Given the description of an element on the screen output the (x, y) to click on. 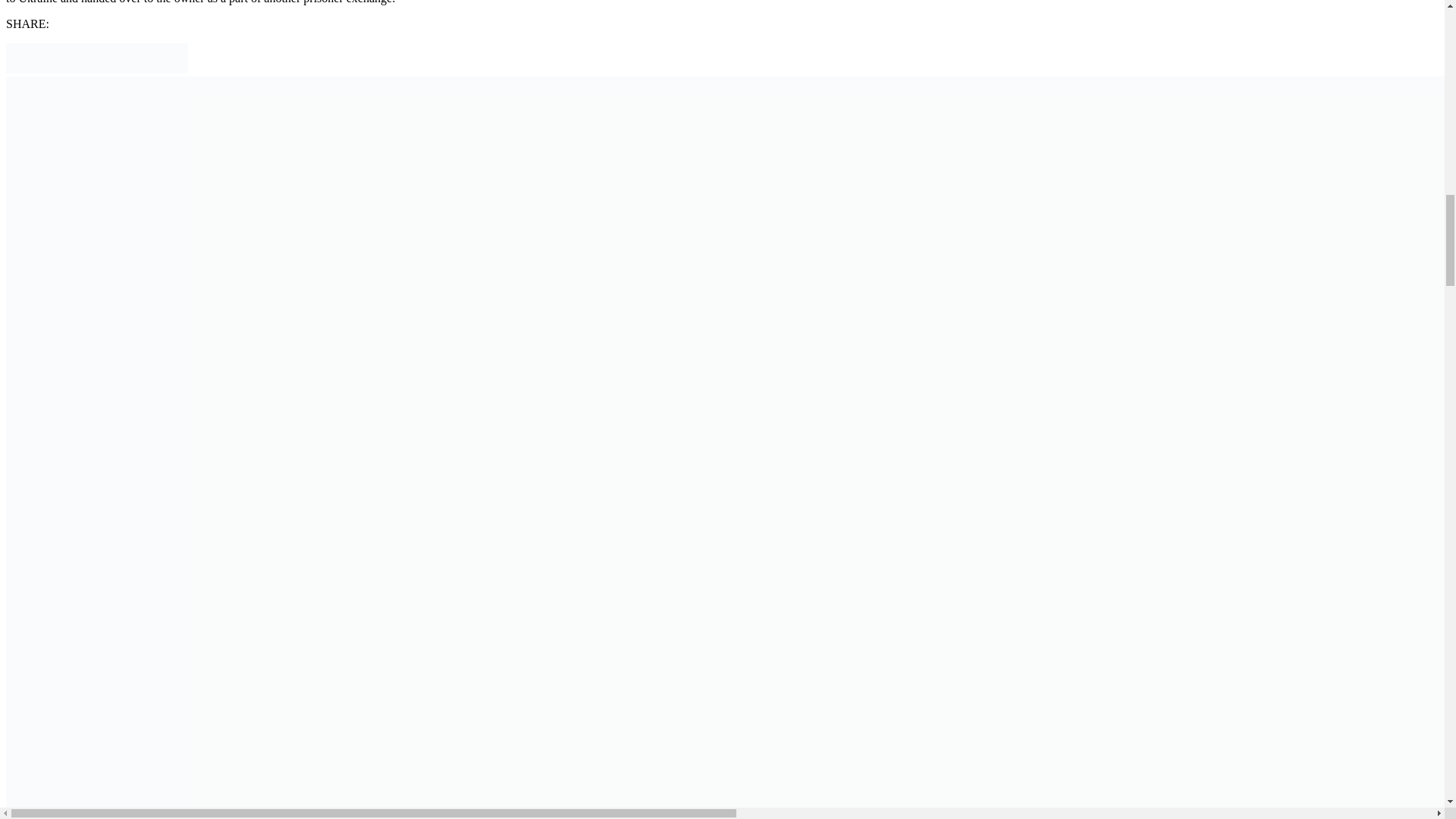
Viber (142, 69)
Twitter (51, 69)
Telegram (112, 69)
Email (20, 69)
WhatsApp (172, 69)
Facebook (81, 69)
